Given the description of an element on the screen output the (x, y) to click on. 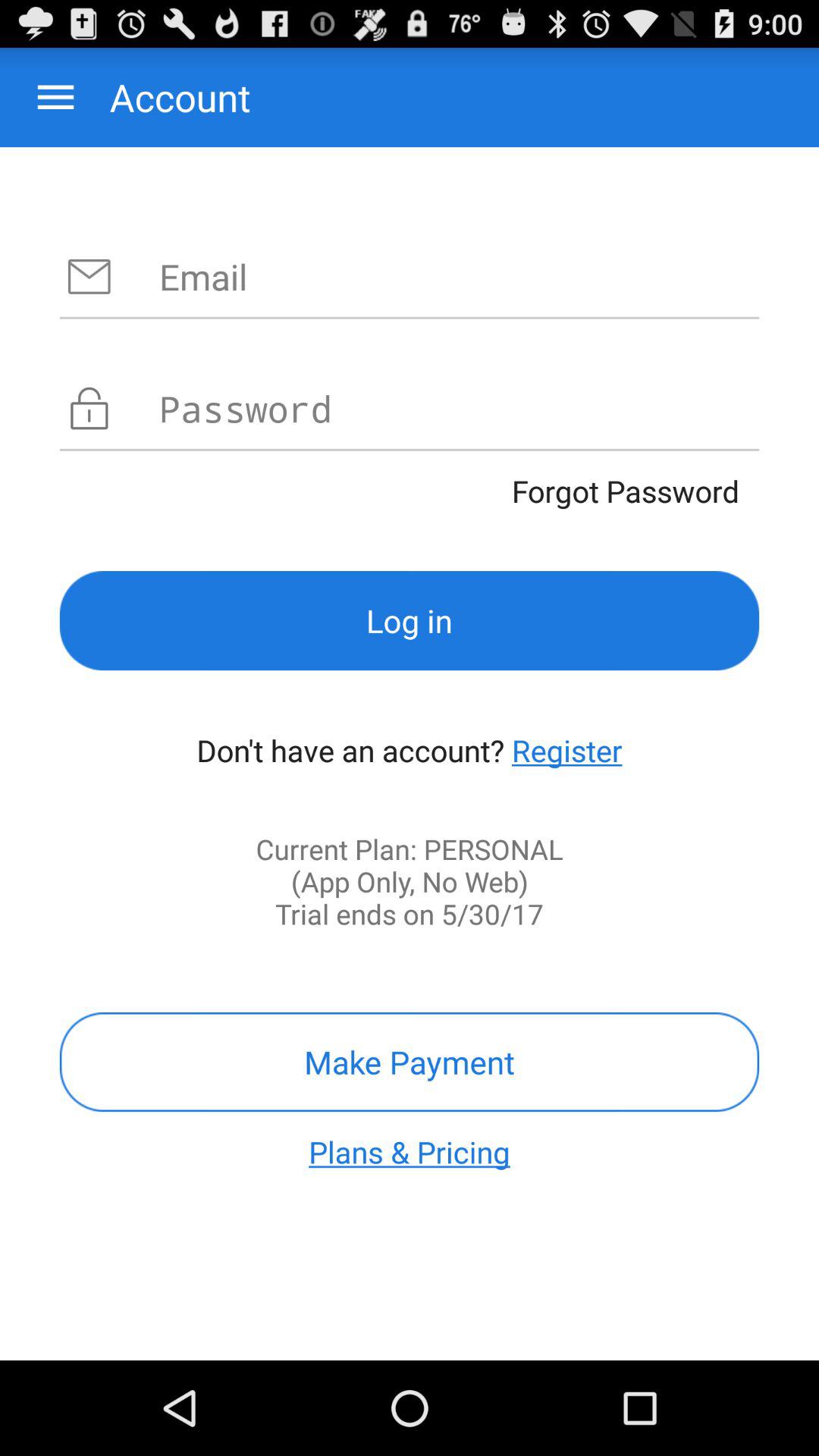
write password (459, 408)
